Given the description of an element on the screen output the (x, y) to click on. 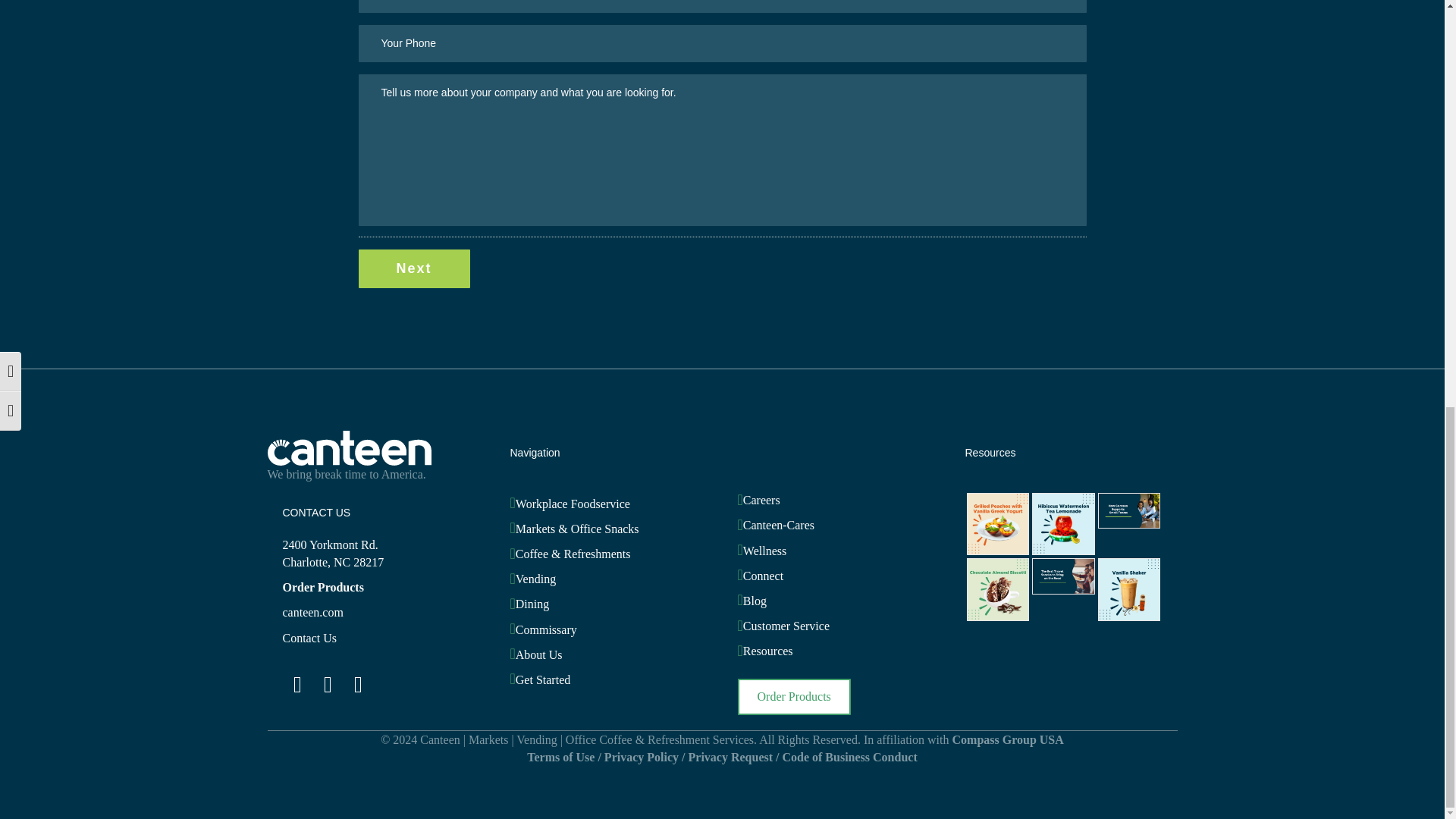
Next (413, 269)
Order Products (322, 586)
